Given the description of an element on the screen output the (x, y) to click on. 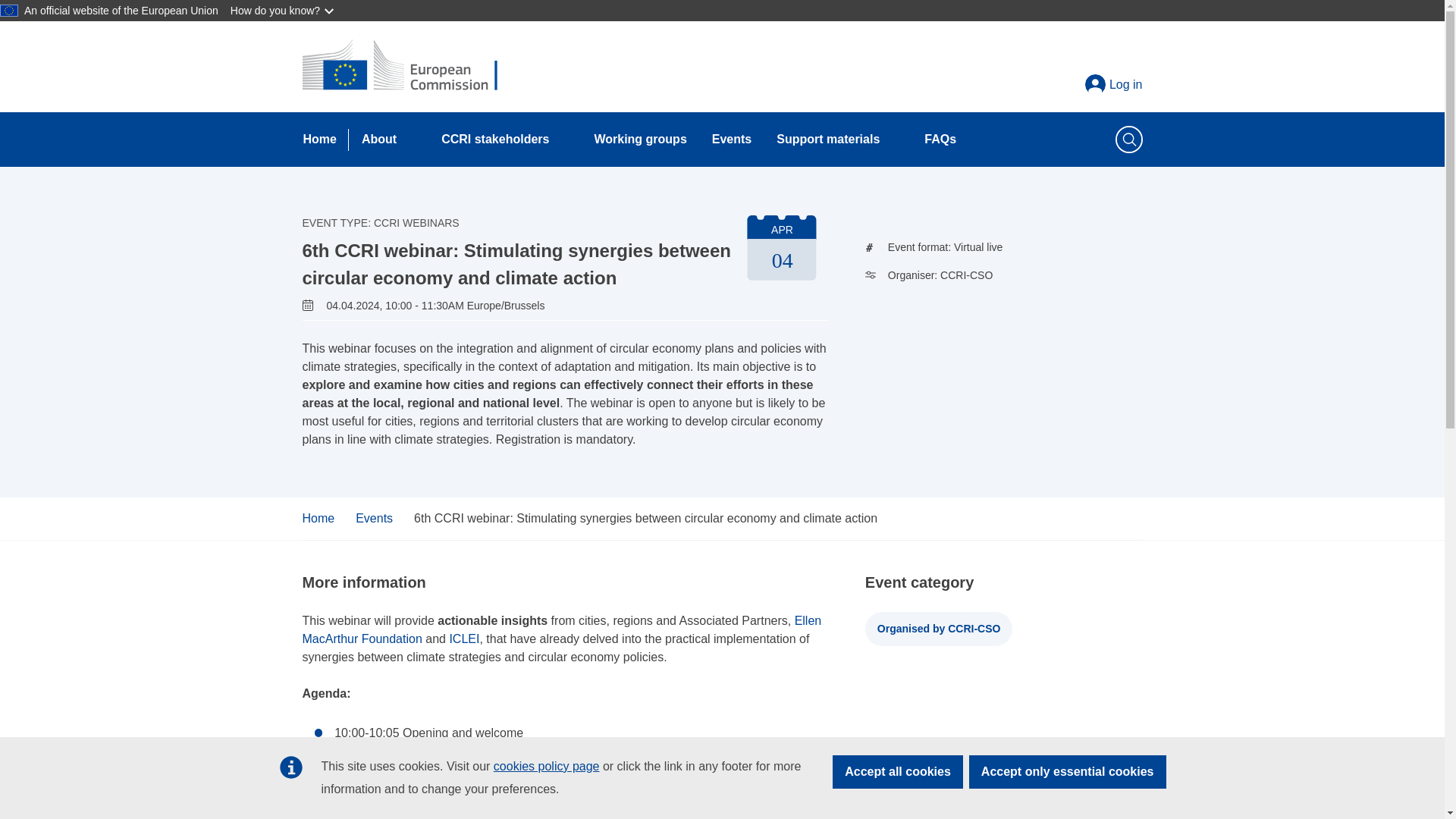
Events (731, 139)
Home (320, 139)
Accept all cookies (897, 771)
cookies policy page (546, 766)
CCRI stakeholders (488, 139)
Support materials (821, 139)
Search (38, 16)
Accept only essential cookies (1067, 771)
FAQs (940, 139)
Log in (1112, 84)
Skip to main content (6, 6)
How do you know? (282, 10)
Working groups (639, 139)
